Given the description of an element on the screen output the (x, y) to click on. 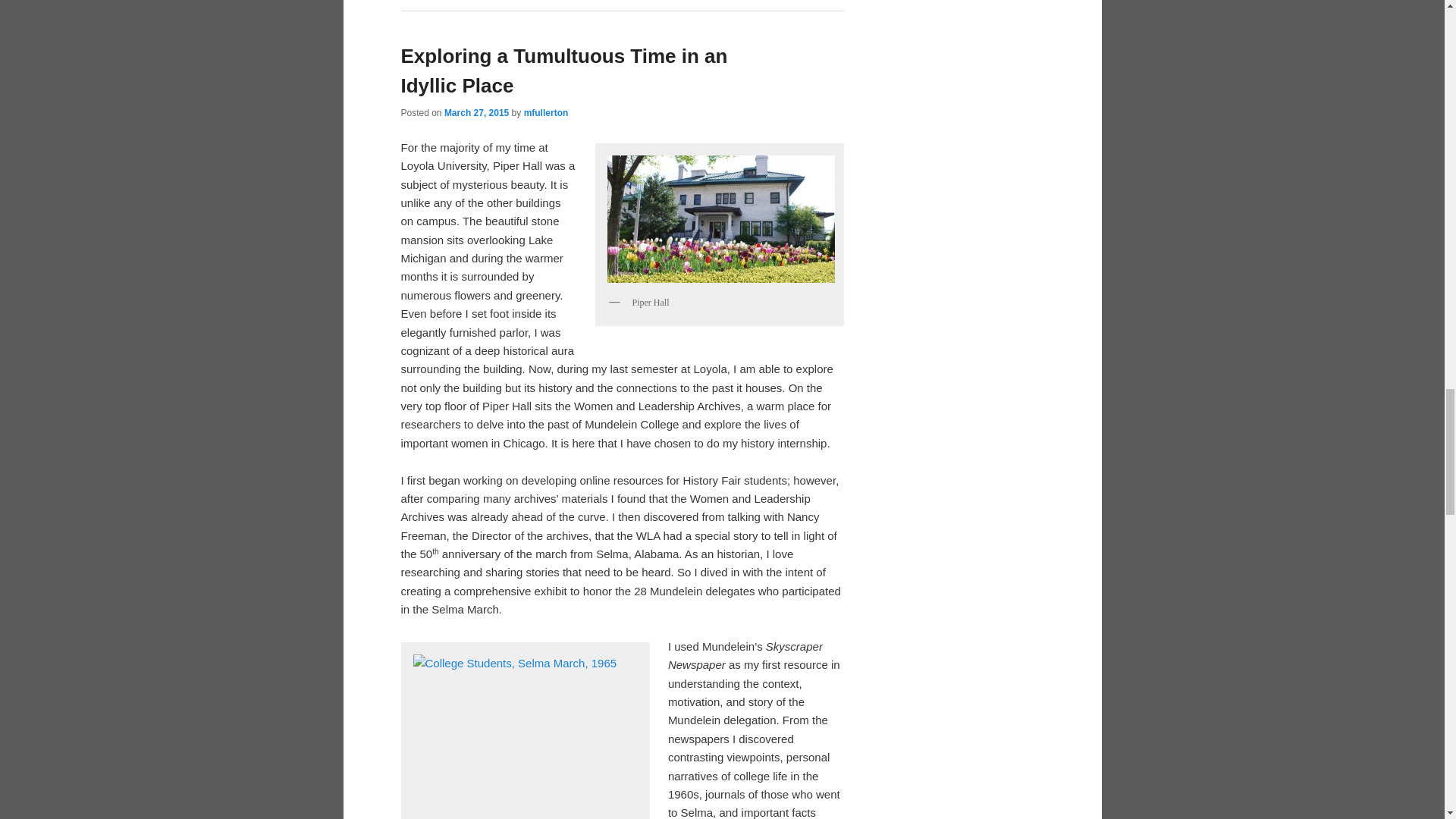
mfullerton (546, 112)
4:57 pm (476, 112)
View all posts by mfullerton (546, 112)
March 27, 2015 (476, 112)
Exploring a Tumultuous Time in an Idyllic Place (563, 71)
Permalink to Exploring a Tumultuous Time in an Idyllic Place (563, 71)
